Given the description of an element on the screen output the (x, y) to click on. 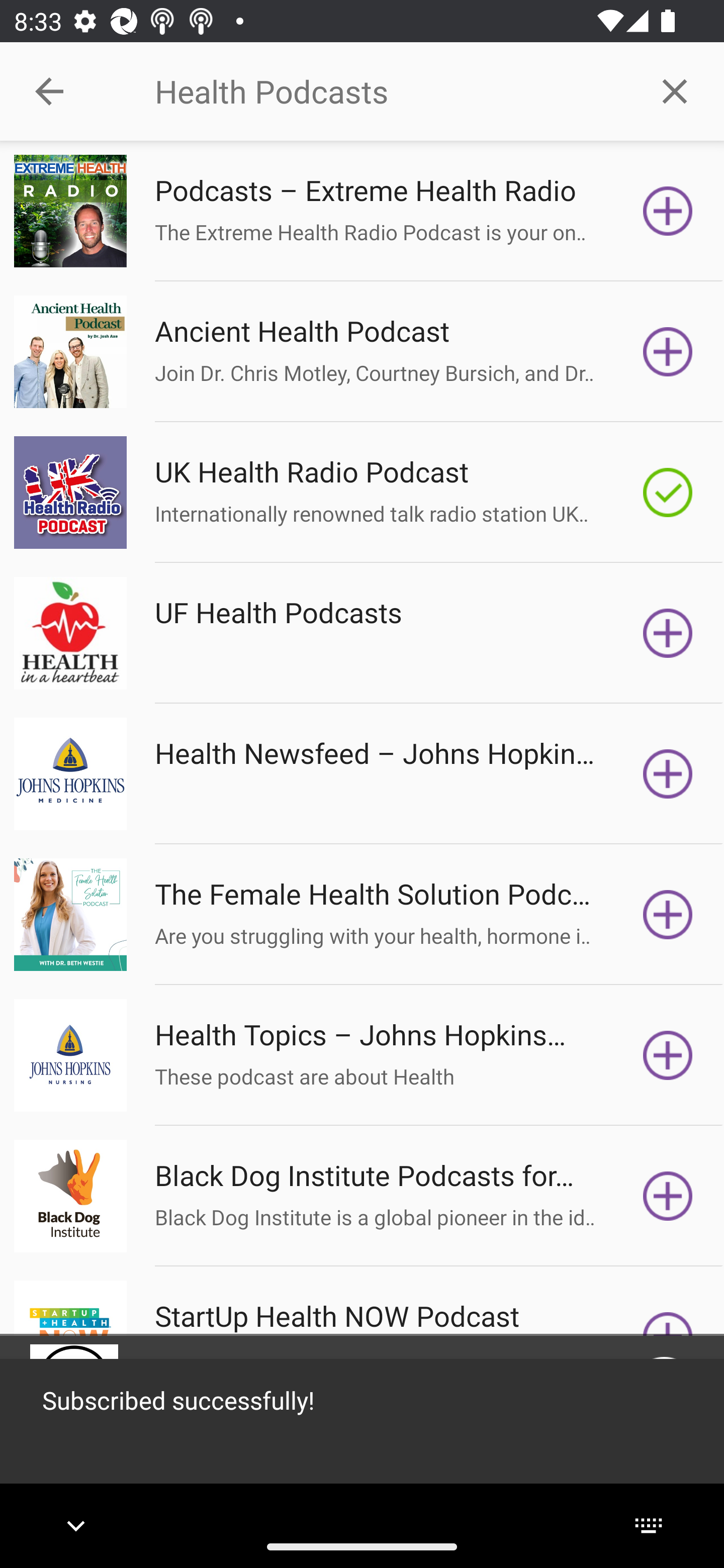
Collapse (49, 91)
Clear query (674, 90)
Health Podcasts (389, 91)
Subscribe (667, 211)
Subscribe (667, 350)
Subscribed (667, 491)
Picture UF Health Podcasts Subscribe (362, 633)
Subscribe (667, 633)
Subscribe (667, 773)
Subscribe (667, 913)
Subscribe (667, 1054)
Subscribe (667, 1195)
Pause (663, 1388)
